Given the description of an element on the screen output the (x, y) to click on. 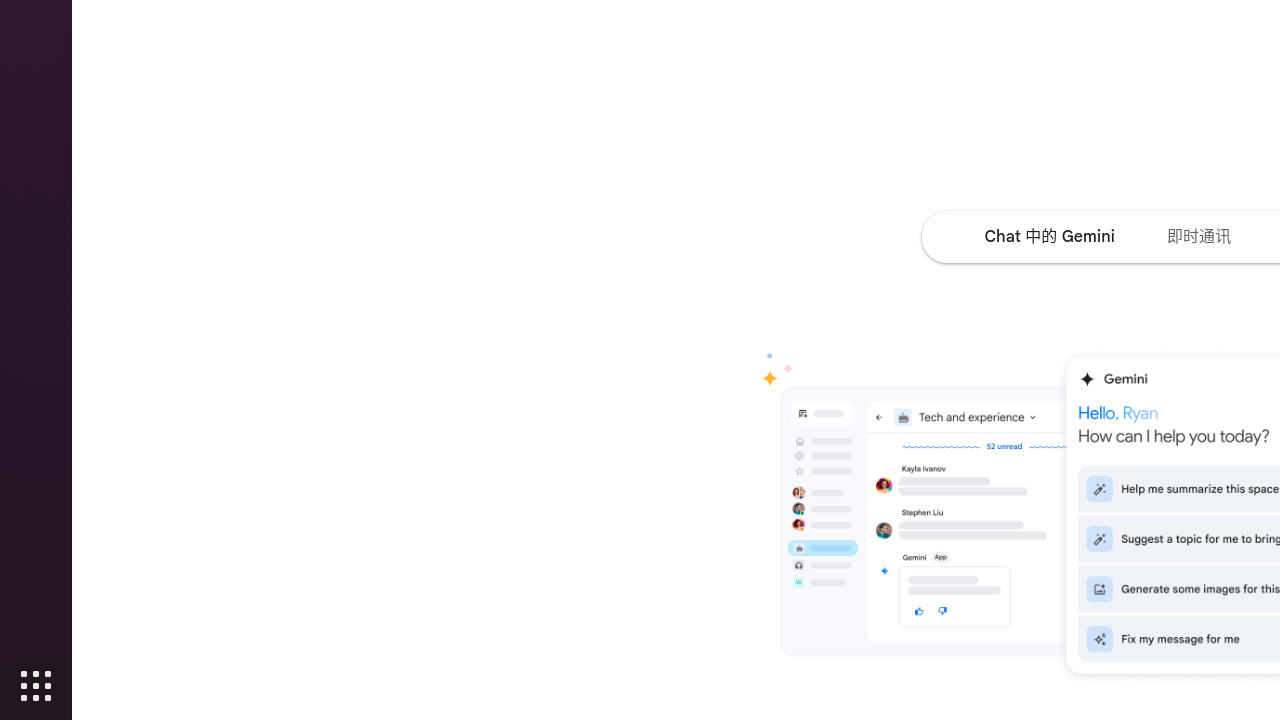
Show Applications Element type: toggle-button (36, 686)
跳至本页面的“即时通讯”部分 Element type: link (1199, 236)
